Given the description of an element on the screen output the (x, y) to click on. 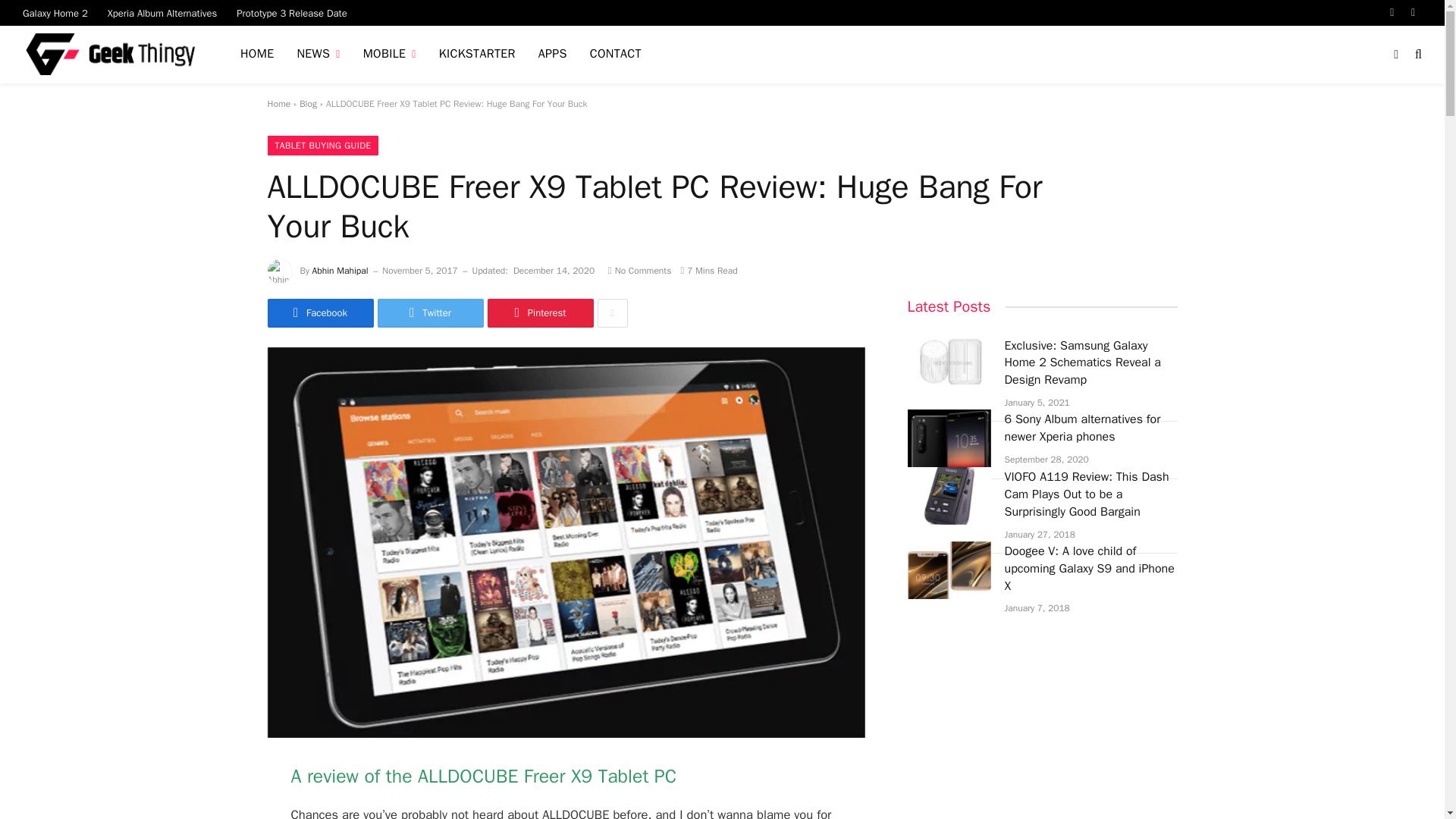
NEWS (317, 54)
Prototype 3 Release Date (291, 12)
Switch to Dark Design - easier on eyes. (1396, 54)
CONTACT (615, 54)
HOME (256, 54)
Galaxy Home 2 (55, 12)
Geek Thingy (112, 54)
Xperia Album Alternatives (162, 12)
MOBILE (390, 54)
APPS (552, 54)
KICKSTARTER (477, 54)
